Given the description of an element on the screen output the (x, y) to click on. 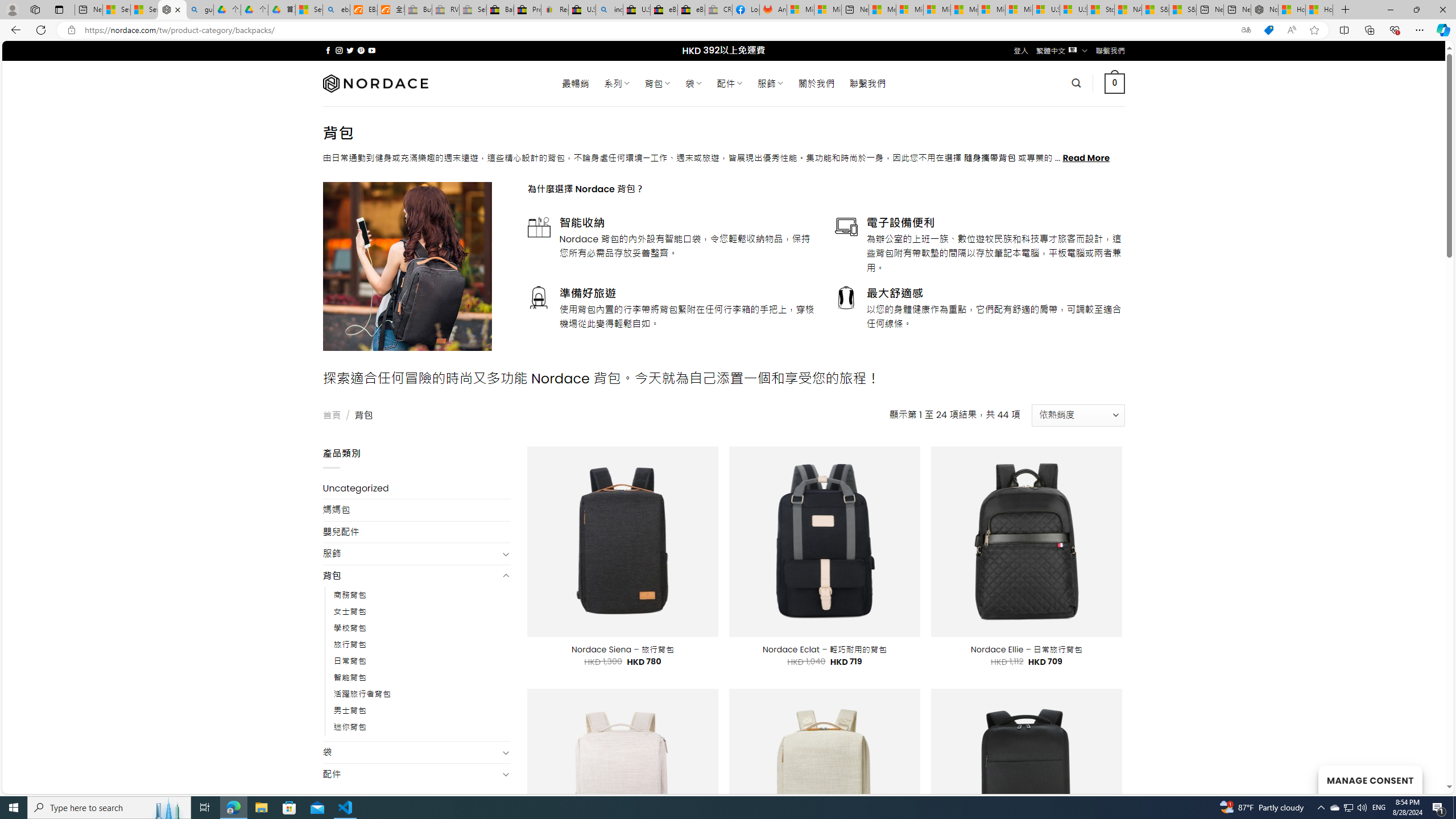
Baby Keepsakes & Announcements for sale | eBay (499, 9)
This site has coupons! Shopping in Microsoft Edge (1268, 29)
  0   (1115, 83)
U.S. State Privacy Disclosures - eBay Inc. (636, 9)
